Given the description of an element on the screen output the (x, y) to click on. 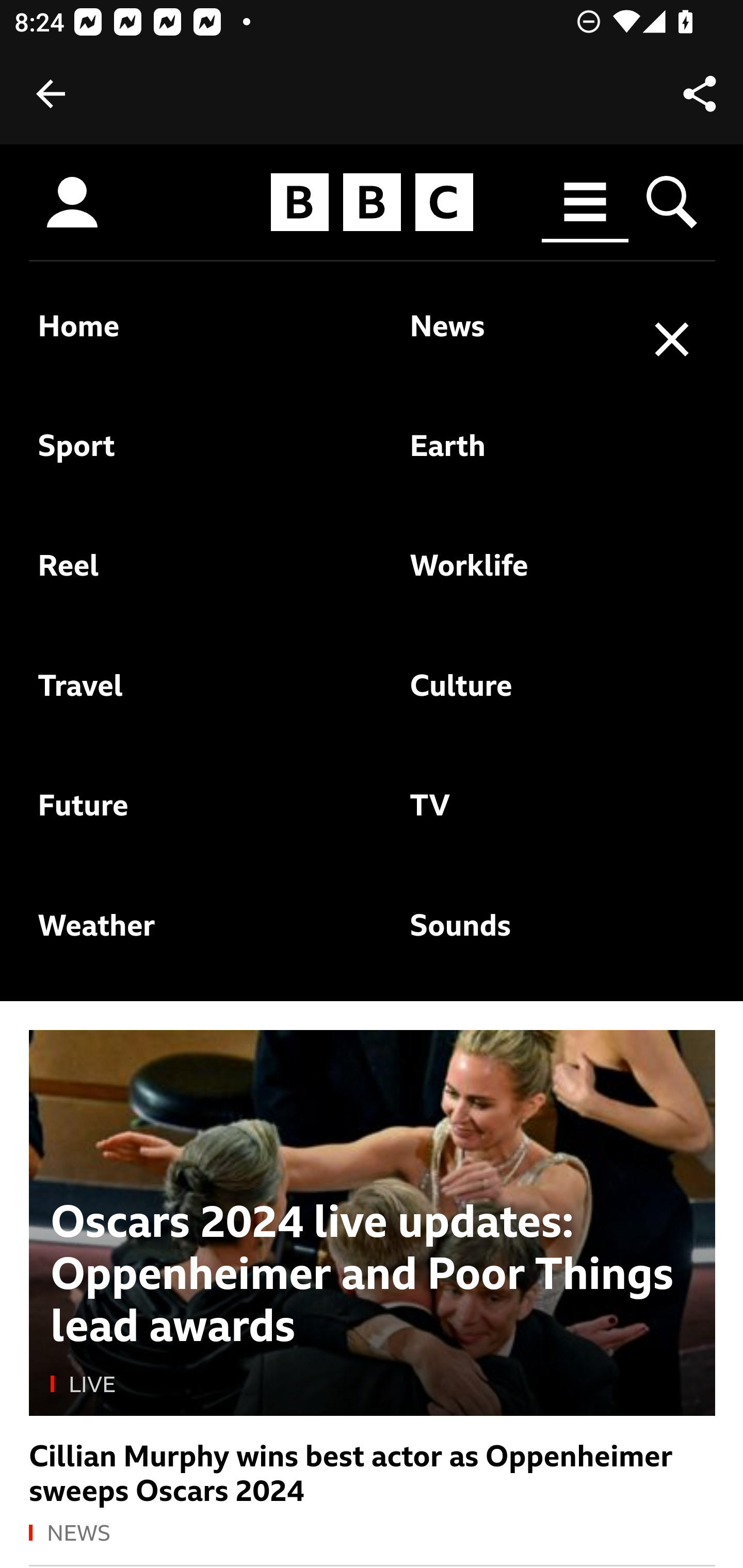
Back (50, 93)
Share (699, 93)
All BBC destinations menu (585, 202)
Search BBC (672, 202)
Sign in (71, 203)
Homepage (371, 203)
Home (178, 337)
News (515, 337)
Close menu (672, 340)
Sport (178, 456)
Earth (515, 456)
Reel (178, 575)
Worklife (515, 575)
Travel (178, 696)
Culture (515, 696)
Future (178, 815)
TV (515, 815)
Weather (178, 935)
Sounds (515, 935)
 LIVE    LIVE (372, 1385)
 NEWS    NEWS (372, 1533)
